Given the description of an element on the screen output the (x, y) to click on. 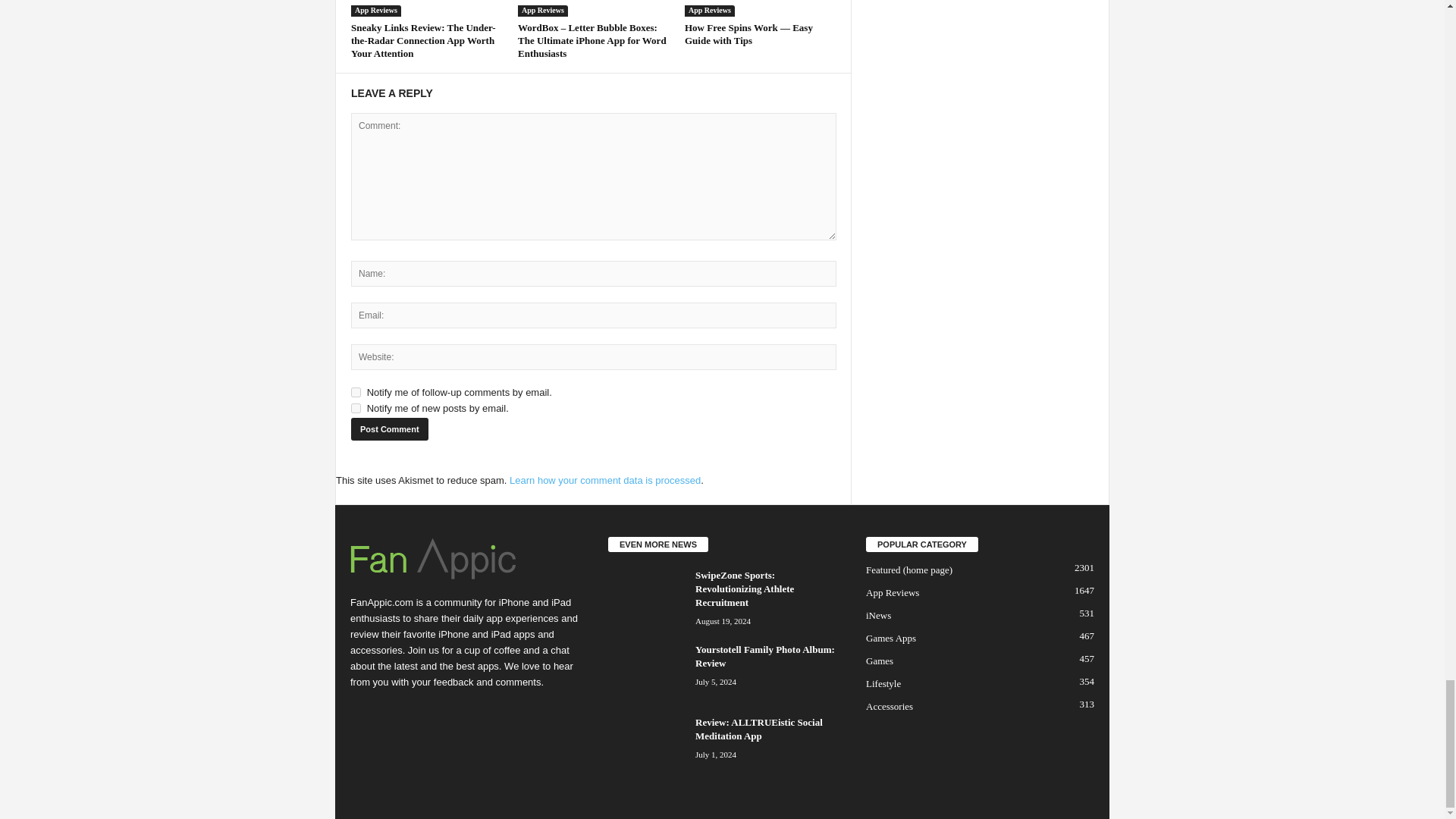
subscribe (355, 392)
Post Comment (389, 428)
subscribe (355, 408)
